Given the description of an element on the screen output the (x, y) to click on. 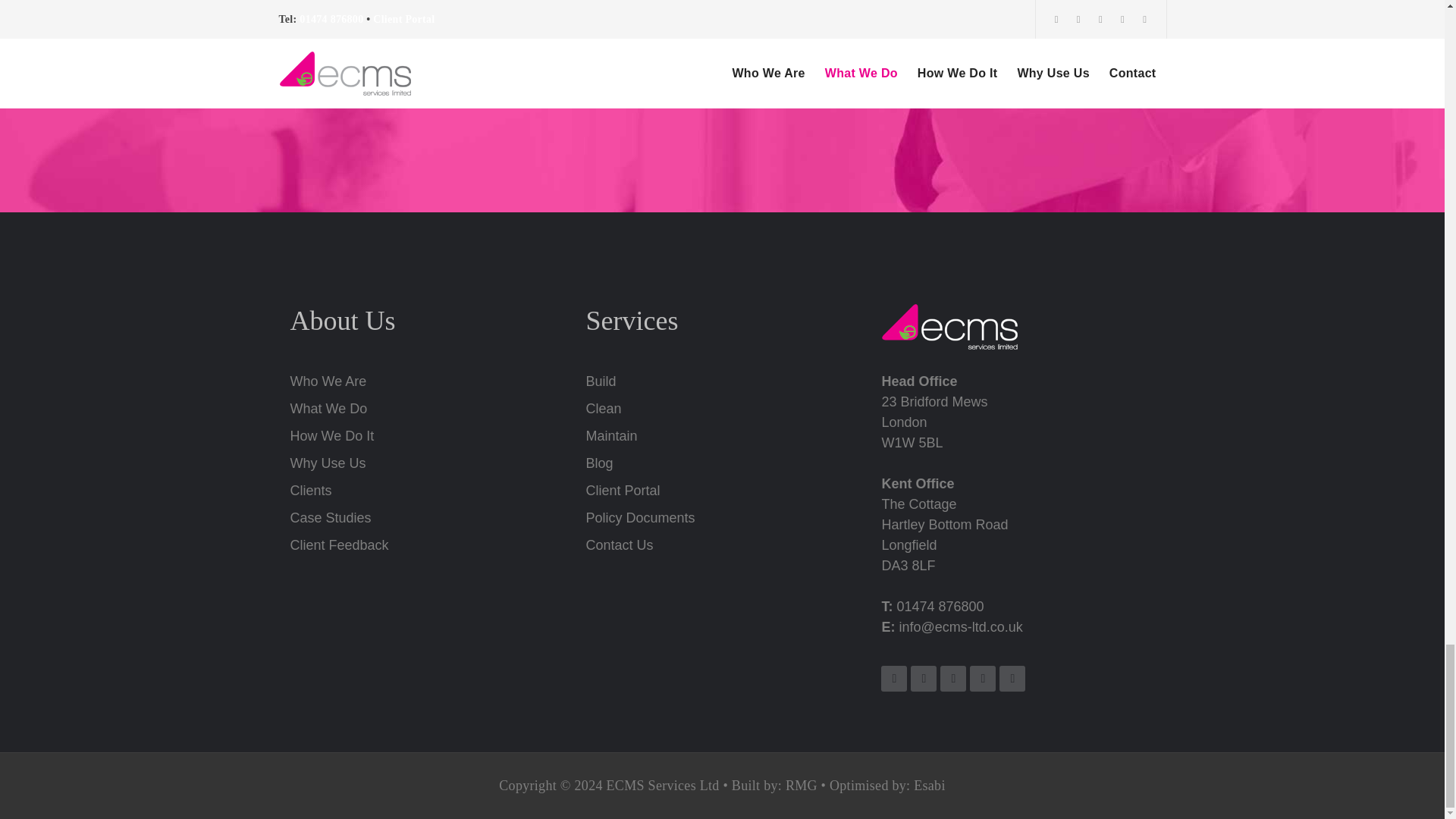
SUBMIT (718, 69)
